Given the description of an element on the screen output the (x, y) to click on. 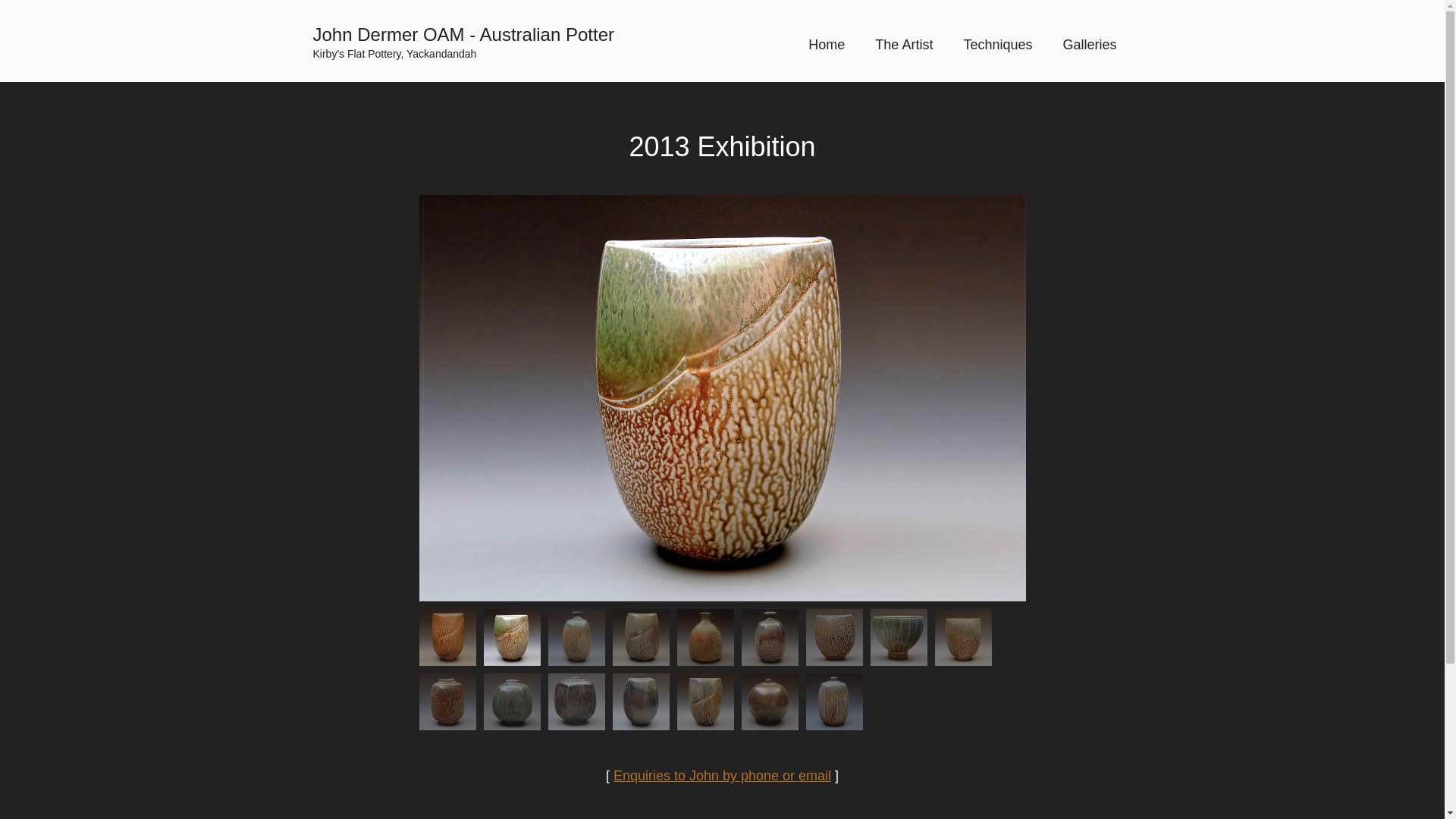
John Dermer OAM - Australian Potter Element type: text (496, 34)
Enquiries to John by phone or email Element type: text (722, 775)
Home Element type: text (826, 44)
